Given the description of an element on the screen output the (x, y) to click on. 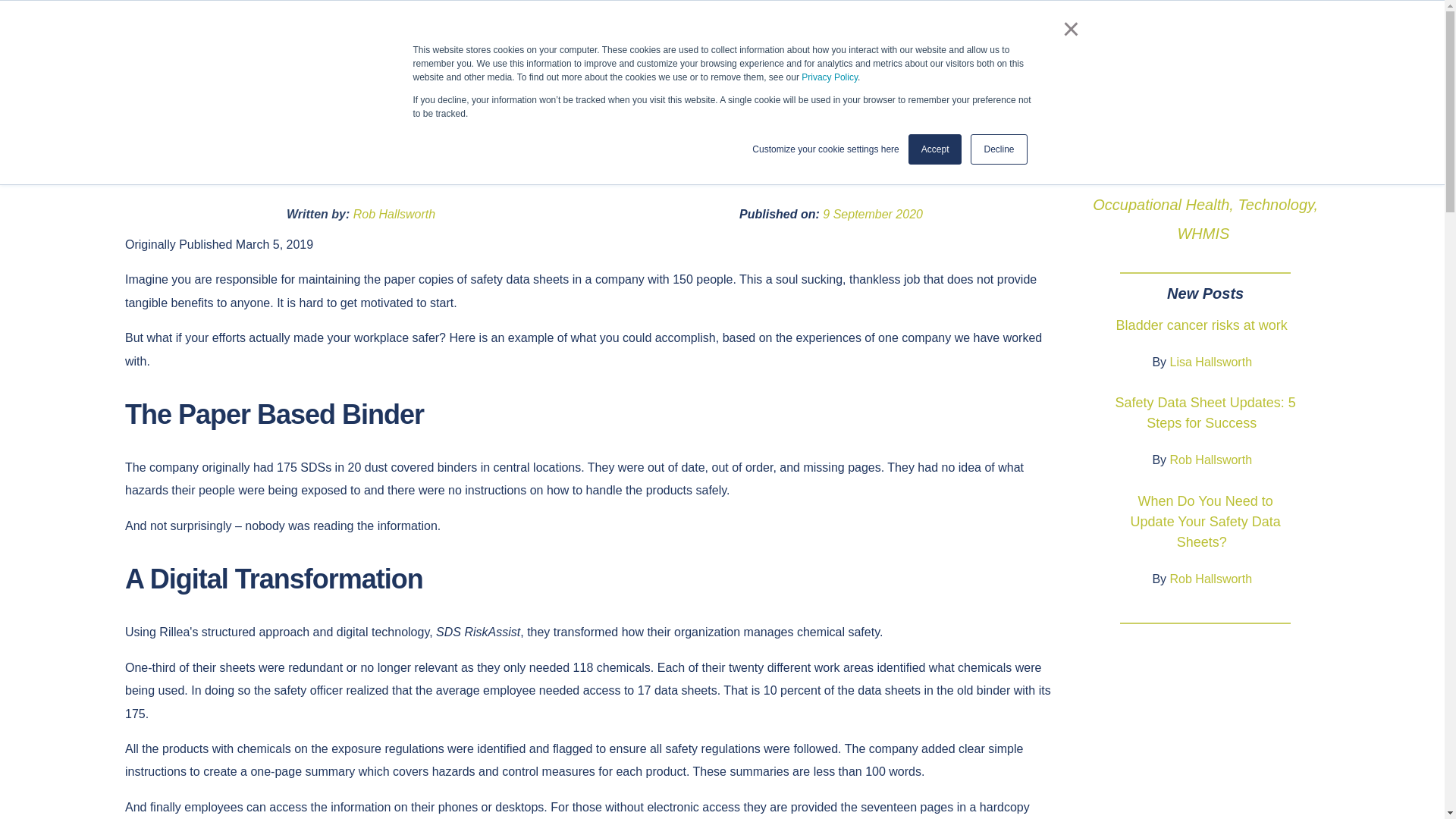
Accept (935, 149)
Decline (998, 149)
Privacy Policy (829, 77)
Customize your cookie settings here (825, 149)
